Given the description of an element on the screen output the (x, y) to click on. 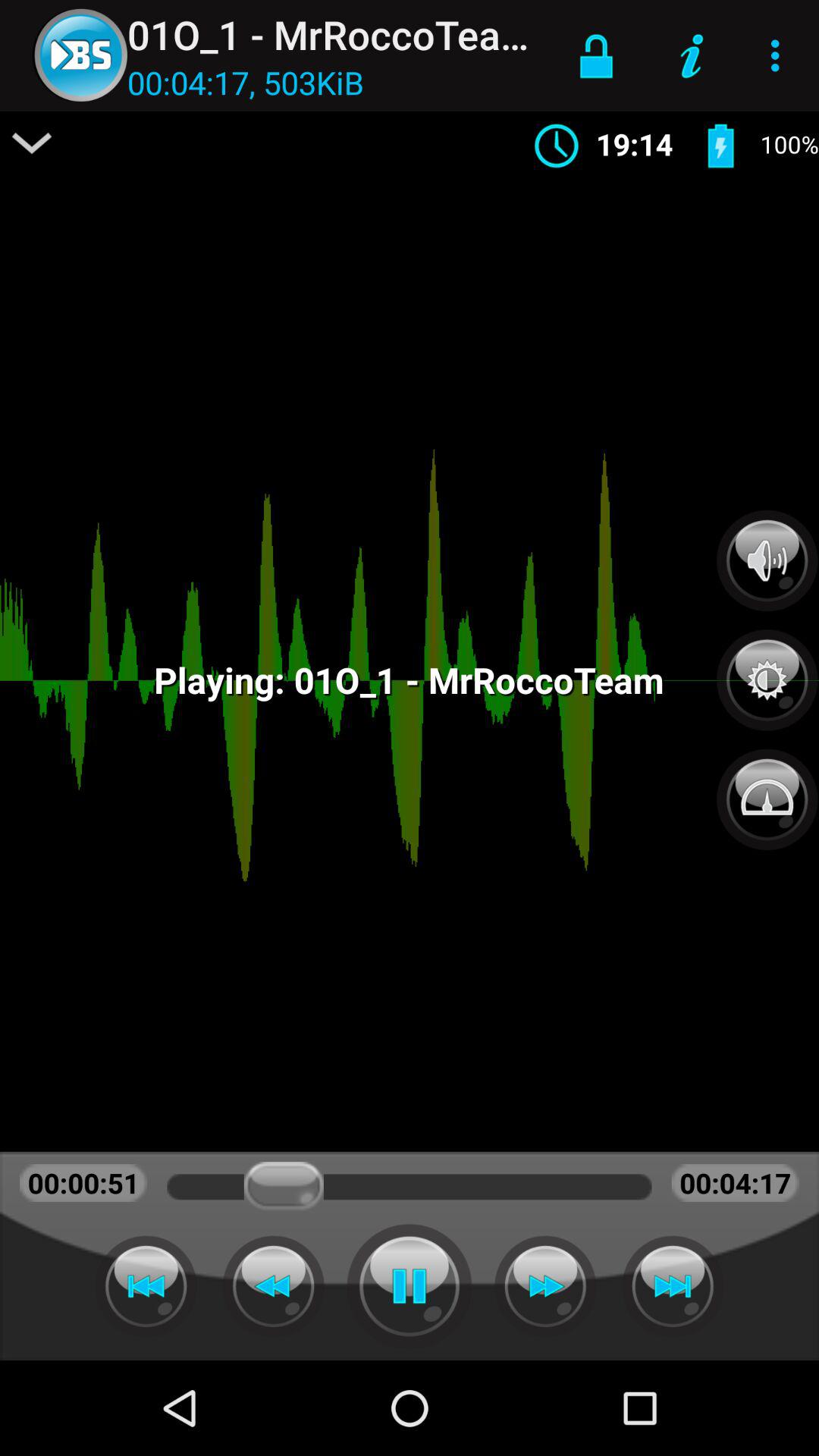
skip forward 5 seconds (672, 1286)
